Given the description of an element on the screen output the (x, y) to click on. 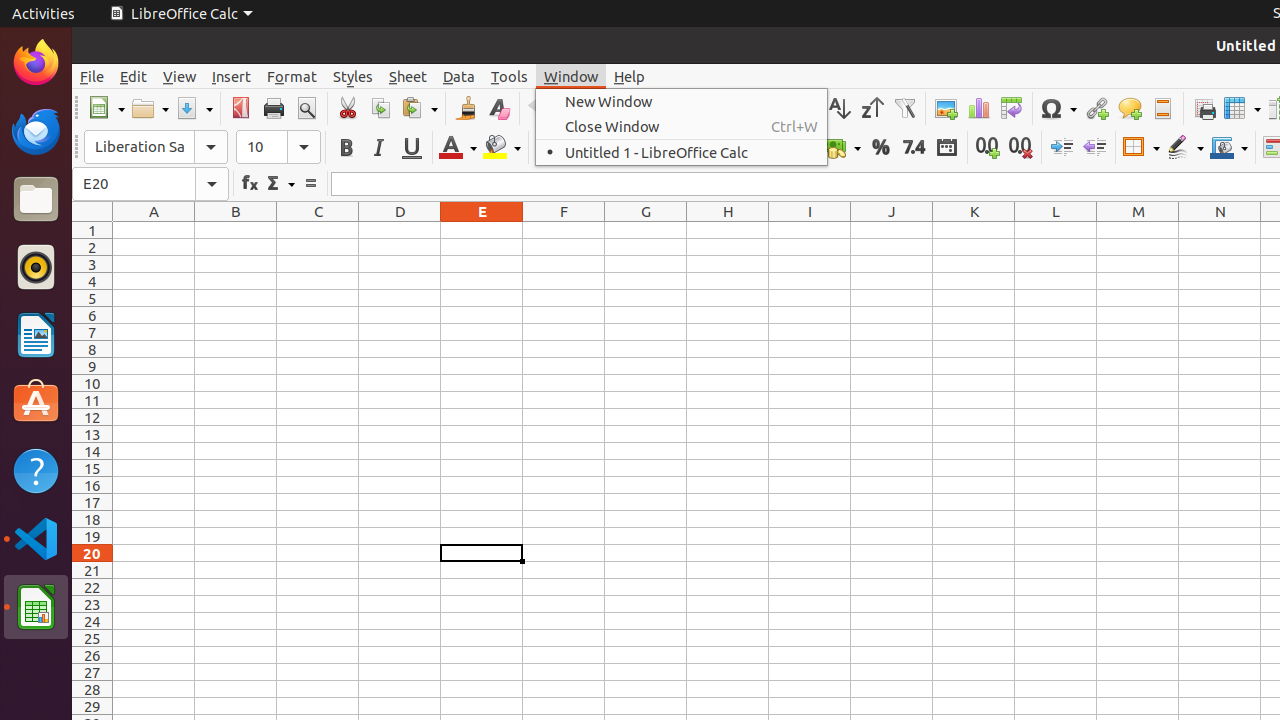
Pivot Table Element type: push-button (1011, 108)
Cut Element type: push-button (347, 108)
Thunderbird Mail Element type: push-button (36, 131)
Clone Element type: push-button (465, 108)
Headers and Footers Element type: push-button (1162, 108)
